Given the description of an element on the screen output the (x, y) to click on. 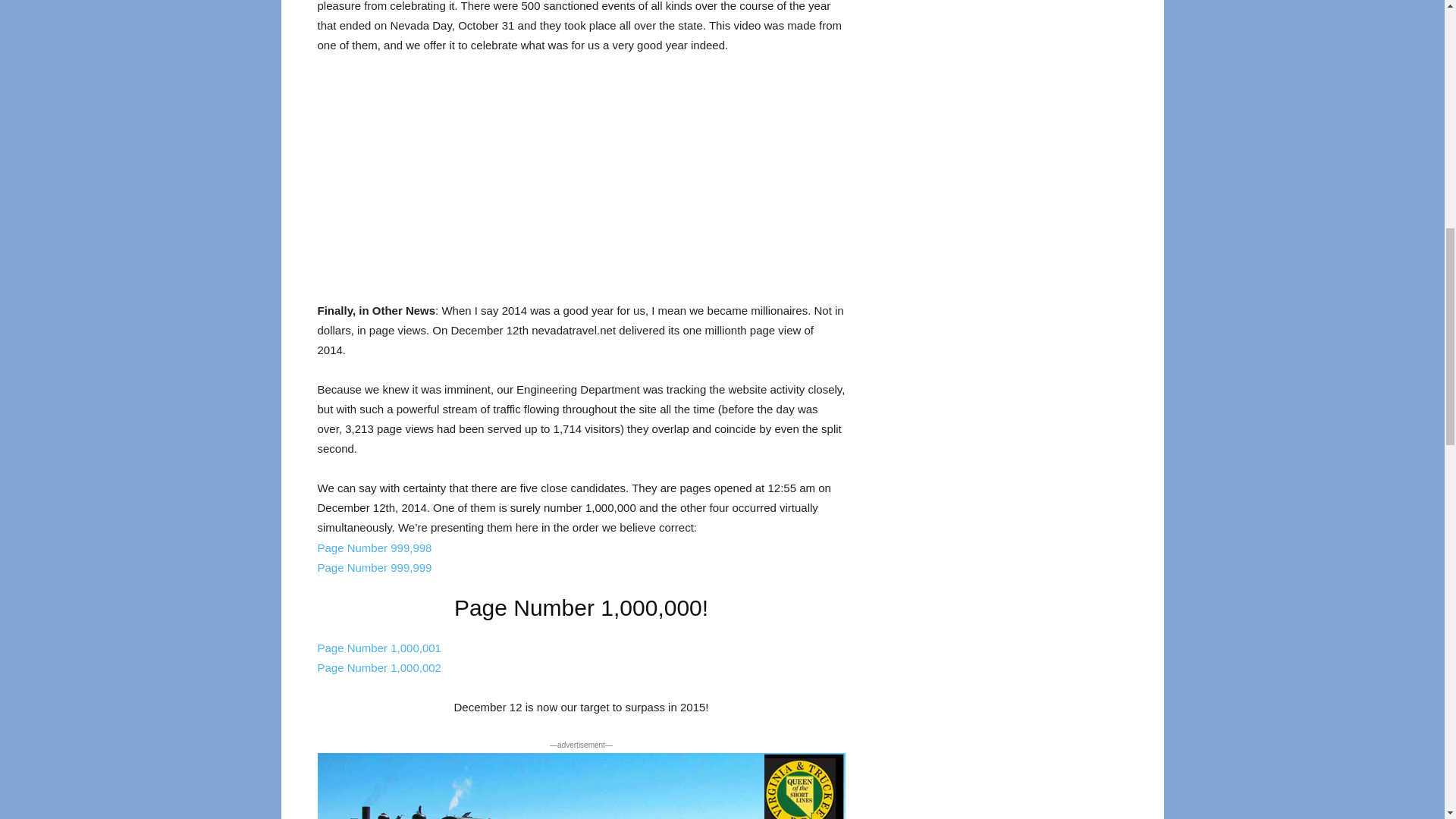
Page Number 999,998 (373, 547)
Page Number 1,000,002 (379, 667)
Page Number 1,000,001 (379, 647)
Page Number 1,000,000! (580, 607)
Page Number 999,999 (373, 567)
